Given the description of an element on the screen output the (x, y) to click on. 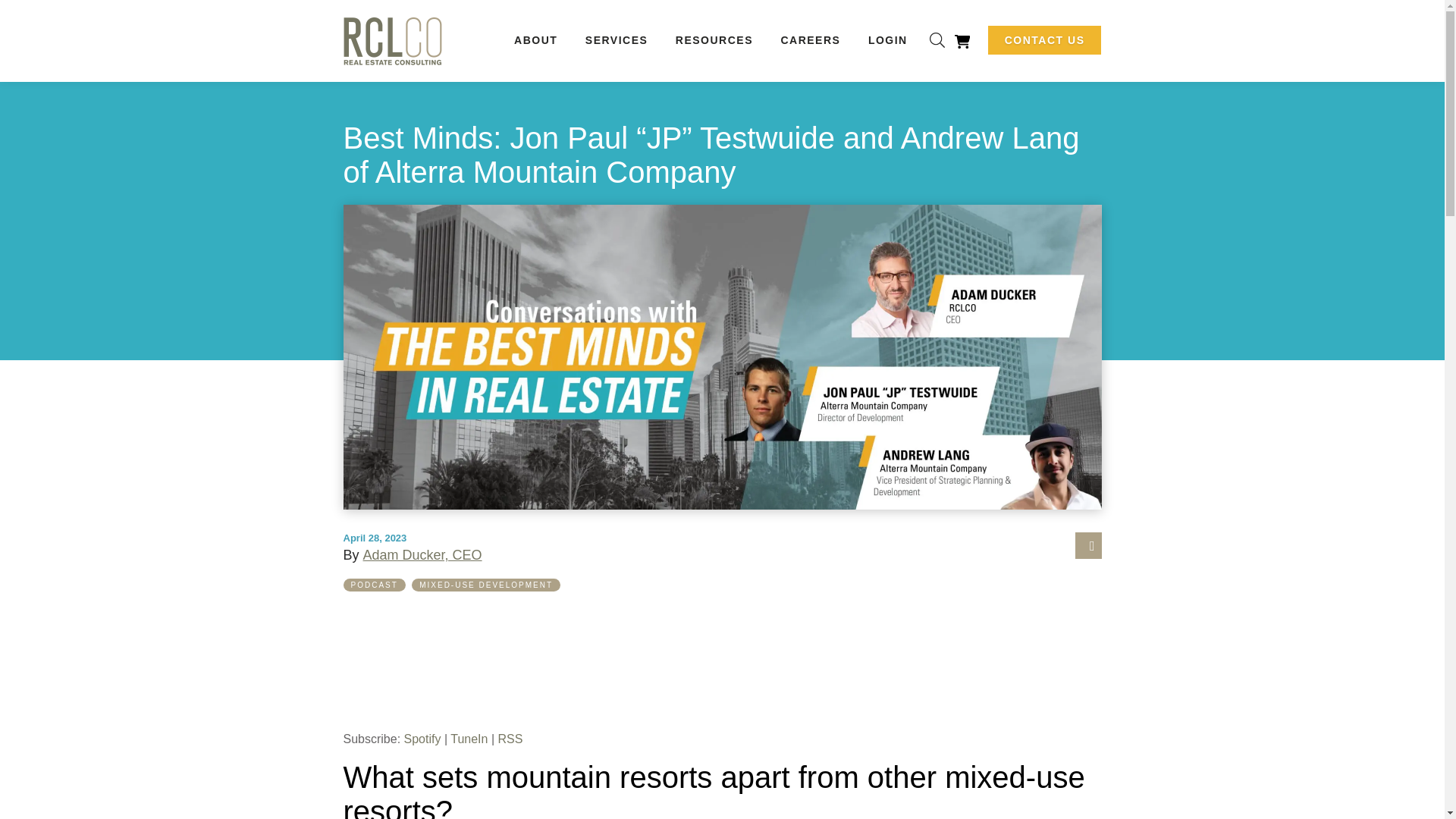
Spotify (422, 738)
View cart (962, 41)
Subscribe via RSS (509, 738)
SERVICES (617, 40)
CONTACT US (1045, 39)
TuneIn (468, 738)
RSS (509, 738)
PODCAST (373, 584)
Subscribe on TuneIn (468, 738)
Blubrry Podcast Player (721, 657)
MIXED-USE DEVELOPMENT (486, 584)
CAREERS (809, 40)
RESOURCES (714, 40)
LOGIN (888, 40)
ABOUT (535, 40)
